Given the description of an element on the screen output the (x, y) to click on. 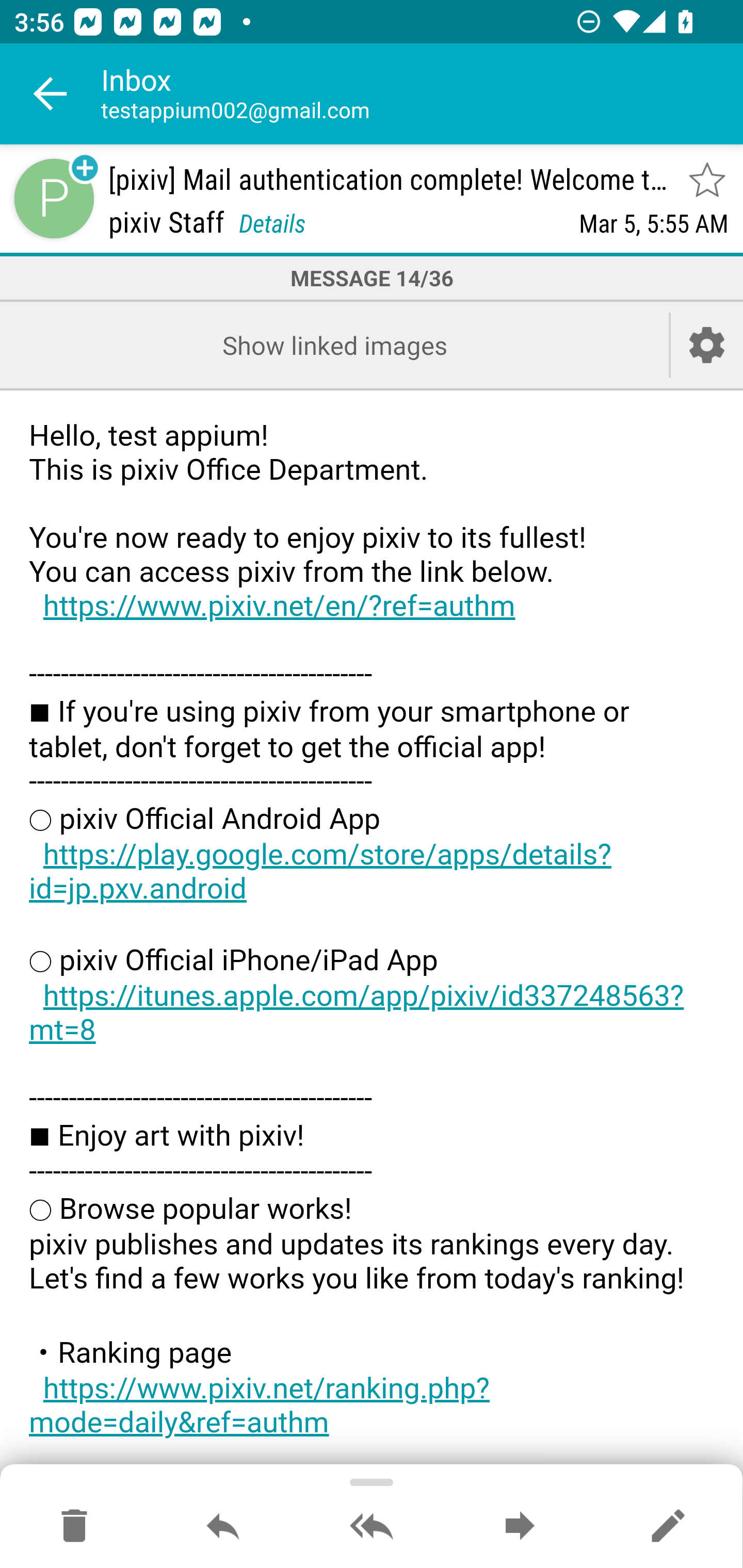
Navigate up (50, 93)
Inbox testappium002@gmail.com (422, 93)
Sender contact button (53, 198)
Show linked images (334, 344)
Account setup (706, 344)
https://www.pixiv.net/en/?ref=authm (278, 606)
Move to Deleted (74, 1527)
Reply (222, 1527)
Reply all (371, 1527)
Forward (519, 1527)
Reply as new (667, 1527)
